Given the description of an element on the screen output the (x, y) to click on. 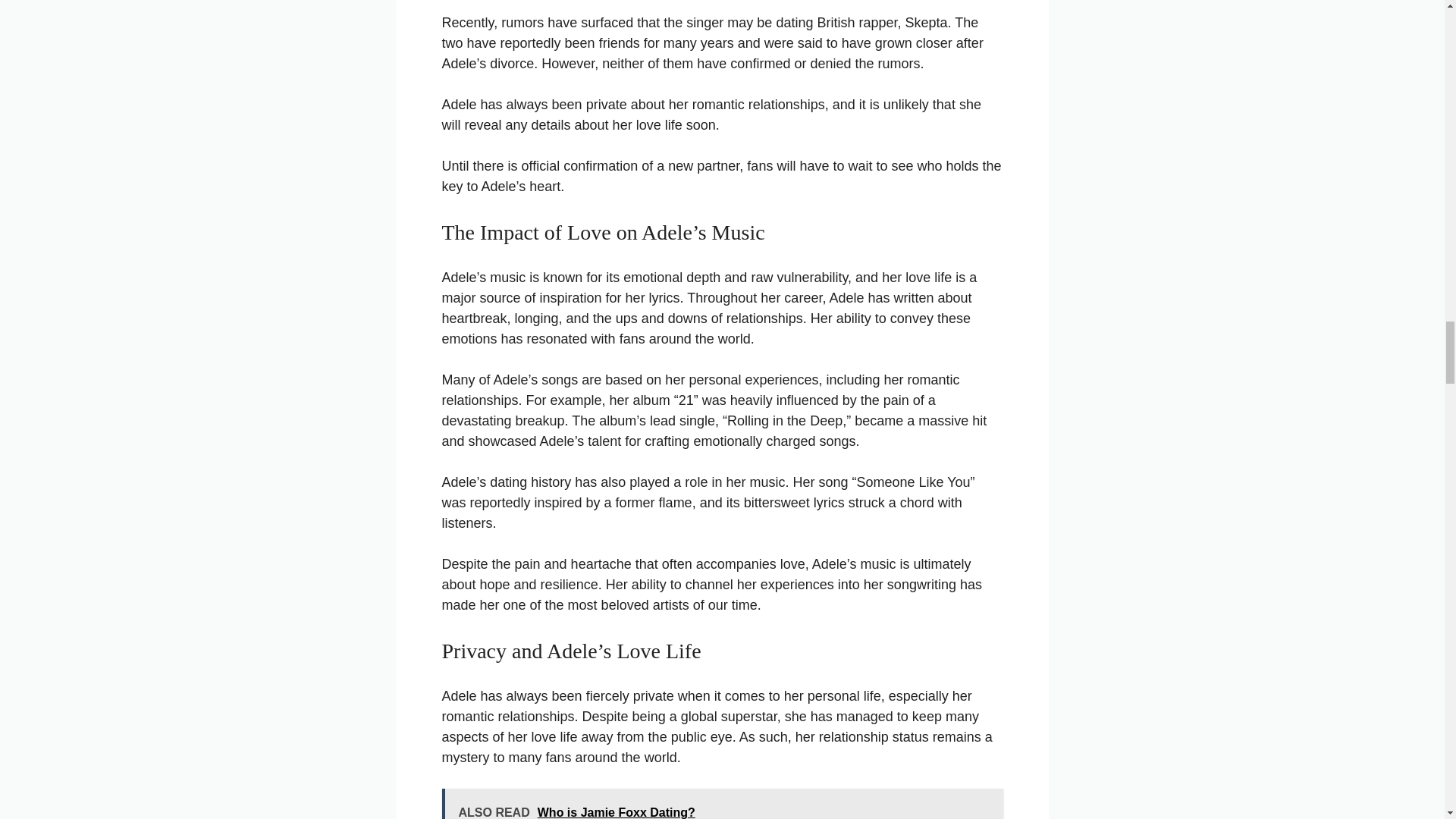
ALSO READ  Who is Jamie Foxx Dating? (722, 803)
